Given the description of an element on the screen output the (x, y) to click on. 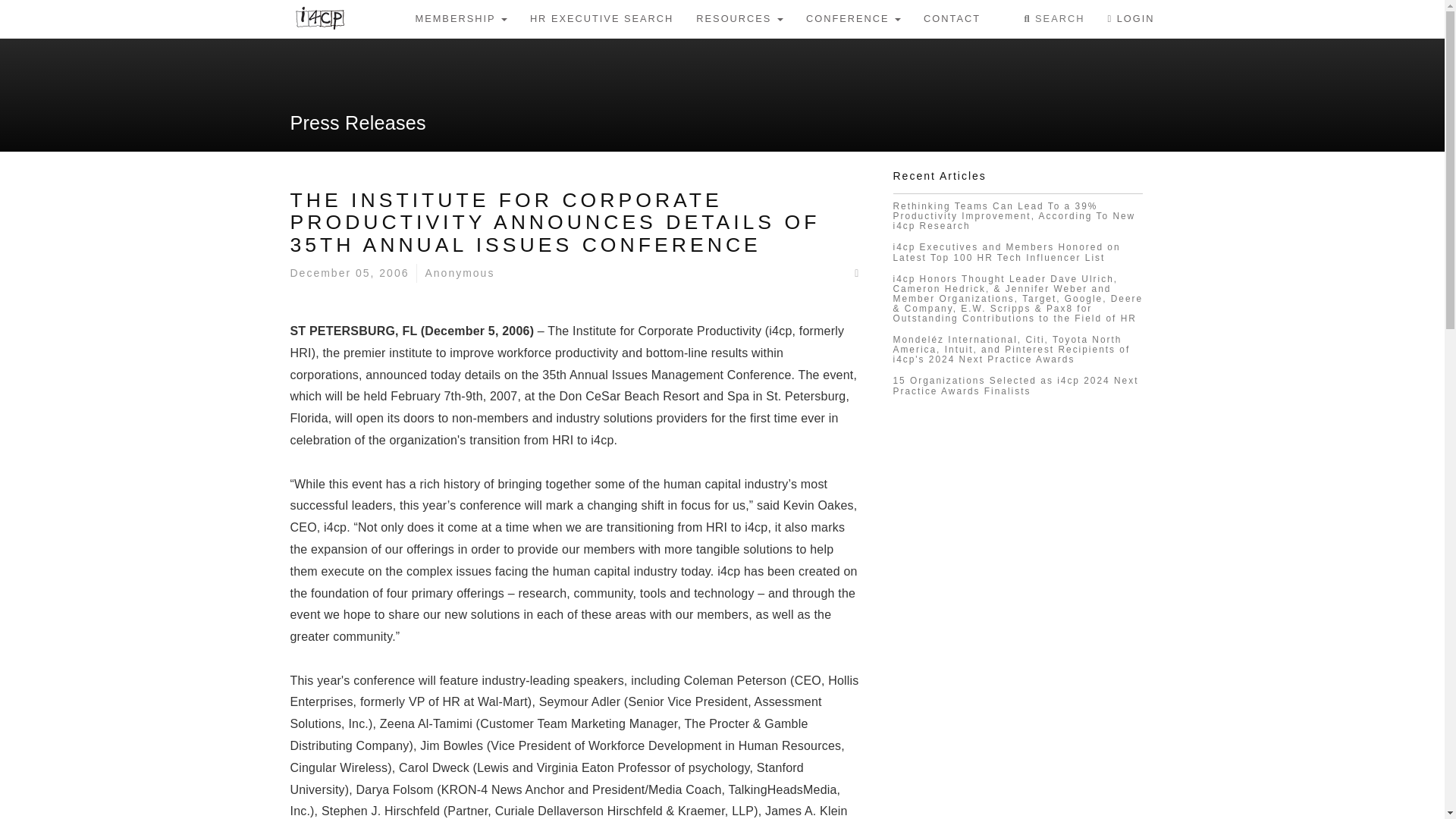
SEARCH (1053, 18)
MEMBERSHIP (460, 18)
RESOURCES (739, 18)
LOGIN (1131, 18)
CONFERENCE (853, 18)
Press Releases (357, 122)
CONTACT (951, 18)
HR EXECUTIVE SEARCH (601, 18)
